Given the description of an element on the screen output the (x, y) to click on. 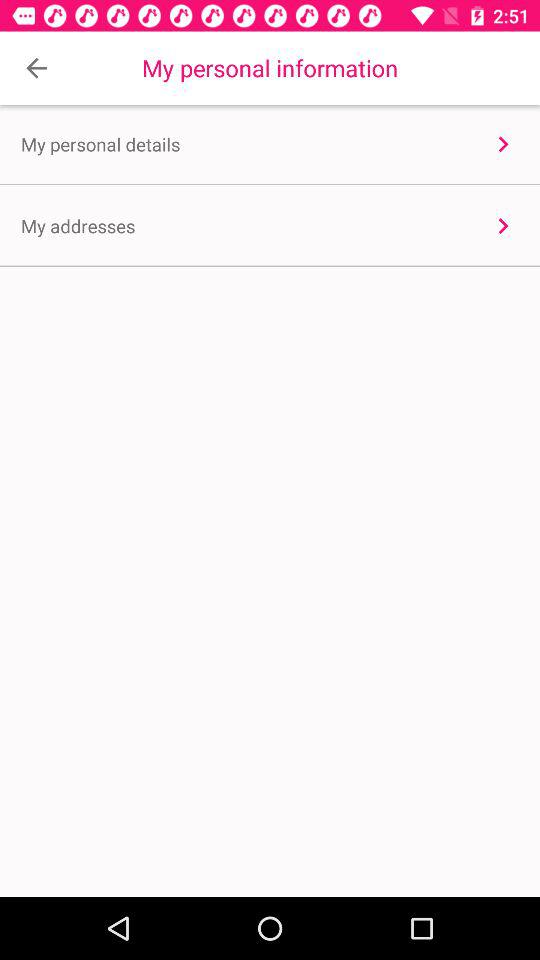
tap the icon next to my personal information item (36, 68)
